Given the description of an element on the screen output the (x, y) to click on. 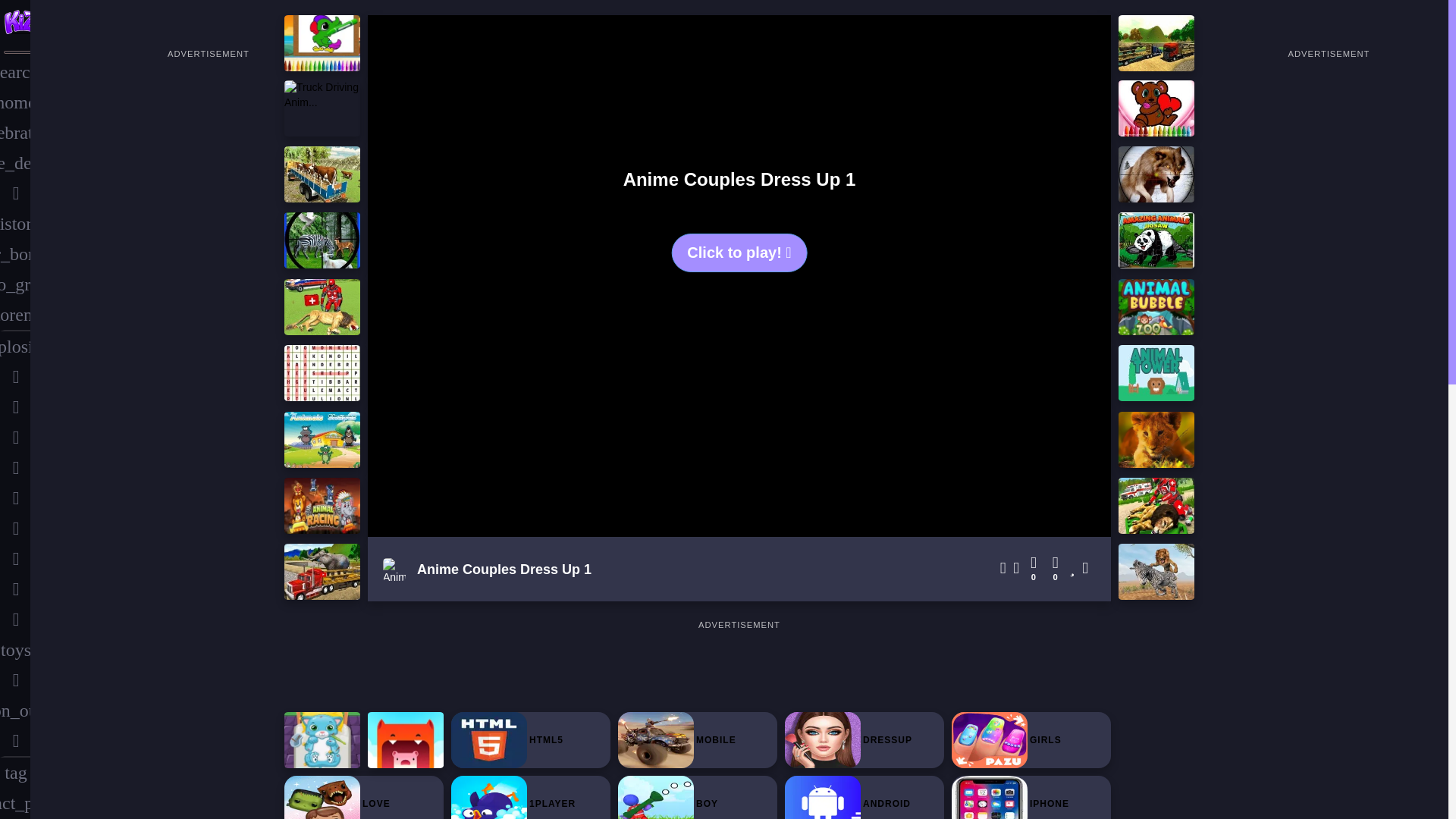
celebration (15, 132)
history (15, 223)
explosion (15, 346)
Advertisement (738, 665)
home (15, 101)
autorenew (15, 315)
tag (15, 772)
toys (15, 649)
search (15, 71)
